Given the description of an element on the screen output the (x, y) to click on. 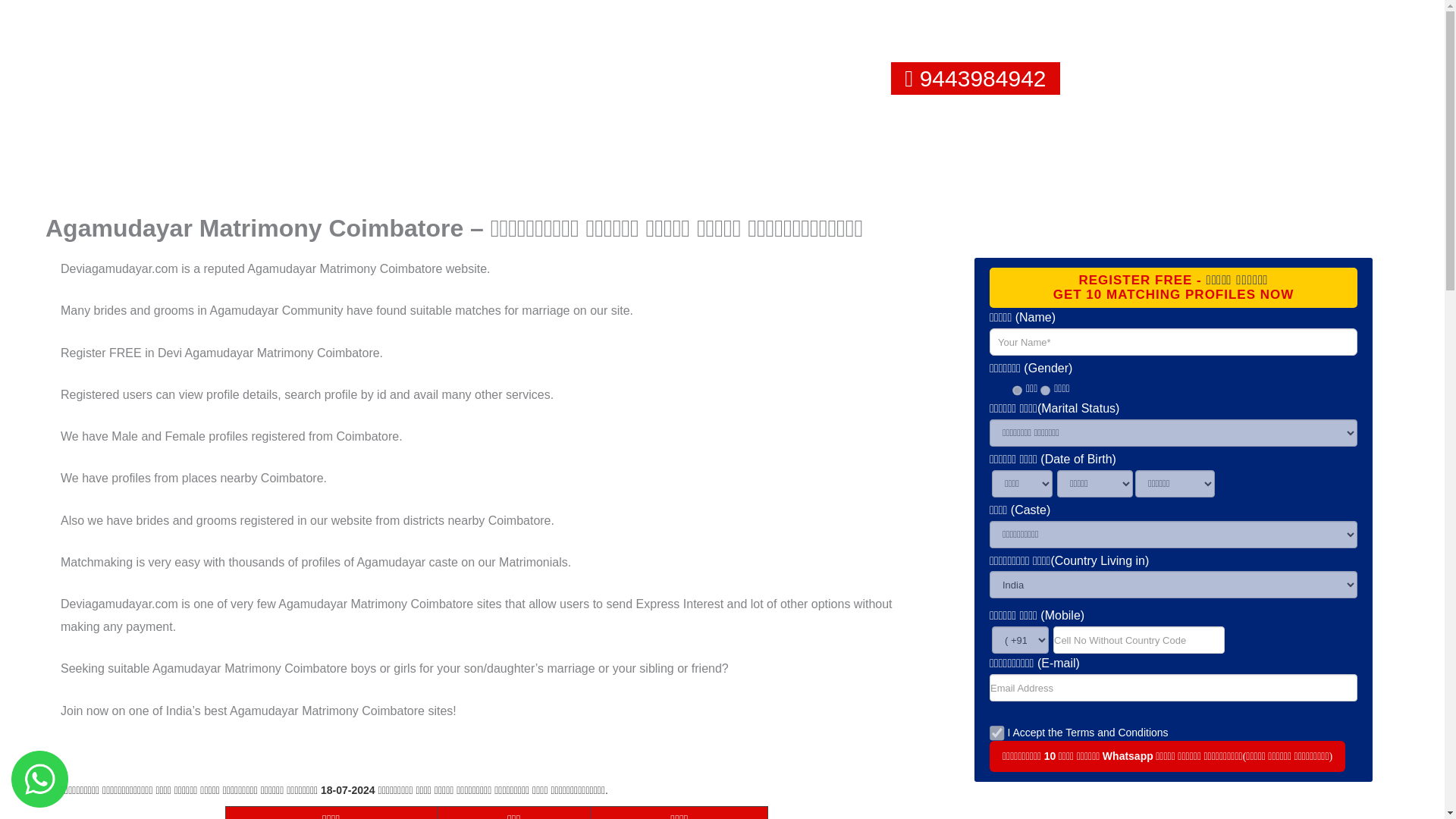
9443984942 (983, 78)
